Given the description of an element on the screen output the (x, y) to click on. 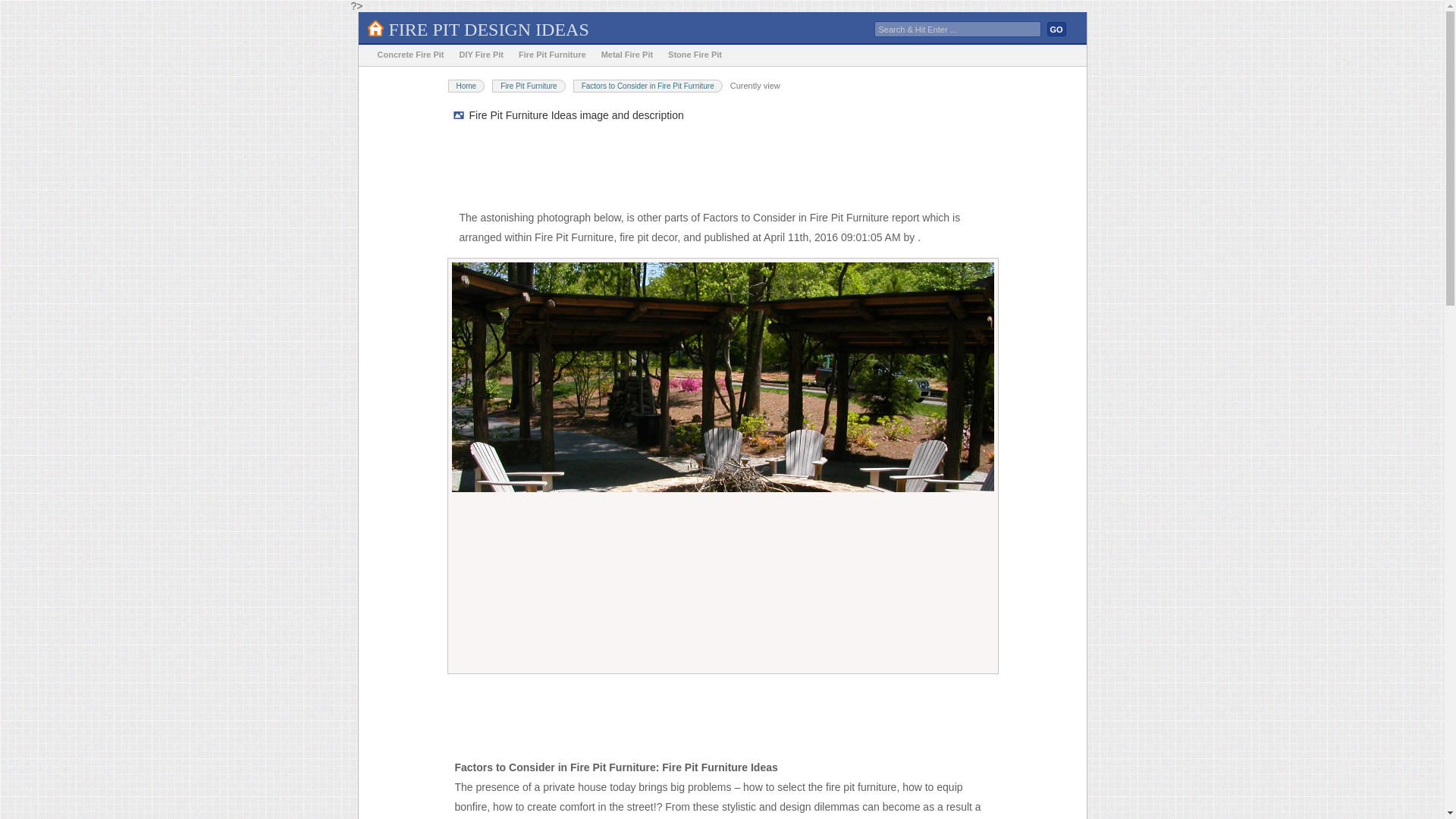
DIY Fire Pit (481, 54)
GO (1055, 29)
Fire Pit Design Ideas (488, 29)
Concrete Fire Pit (410, 54)
Metal Fire Pit (627, 54)
Home (465, 85)
FIRE PIT DESIGN IDEAS (488, 29)
Fire Pit Furniture (528, 85)
Factors to Consider in Fire Pit Furniture (647, 85)
Fire Pit Furniture (552, 54)
GO (1055, 29)
Stone Fire Pit (695, 54)
